Given the description of an element on the screen output the (x, y) to click on. 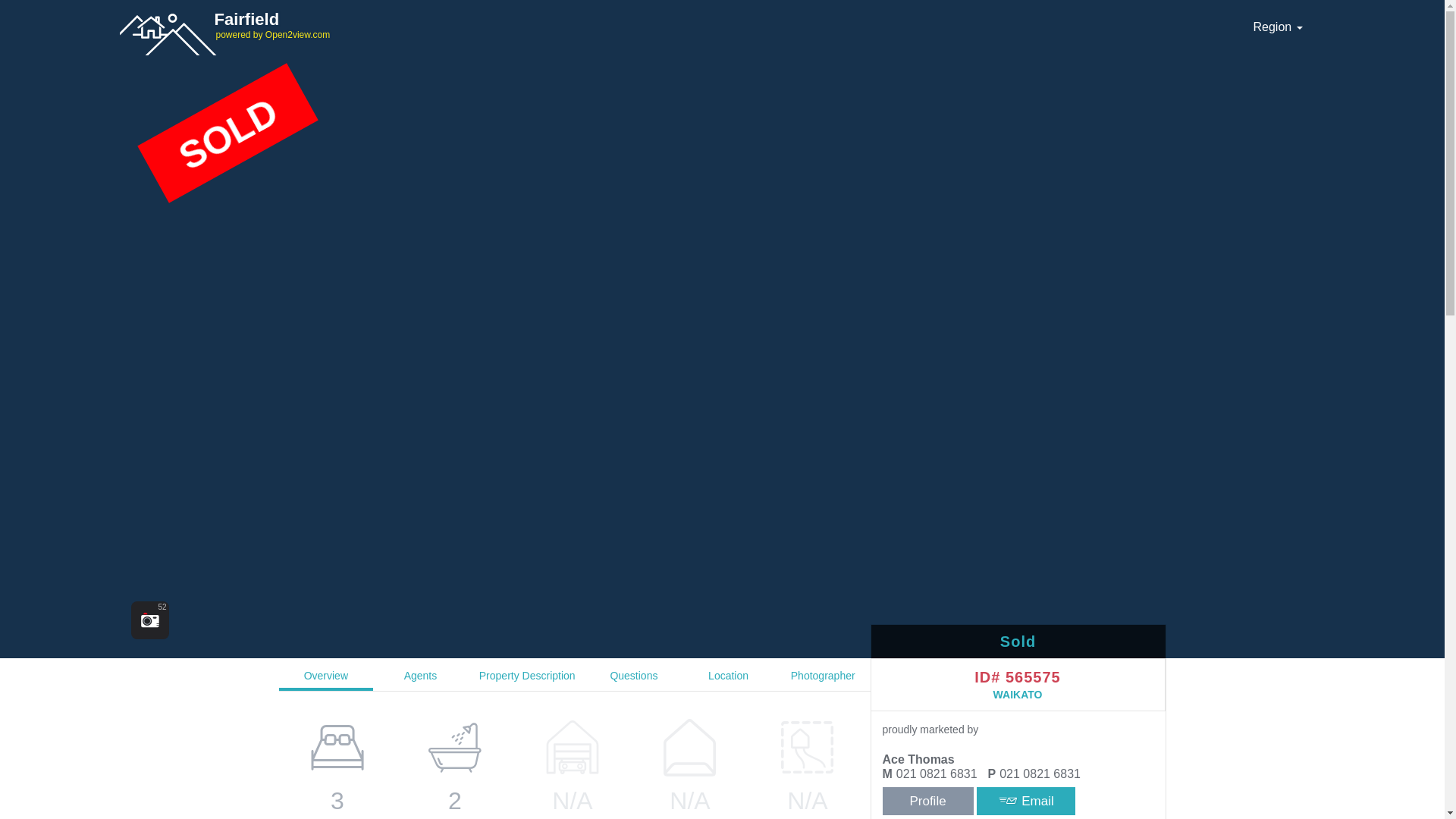
Fairfield (676, 24)
